Given the description of an element on the screen output the (x, y) to click on. 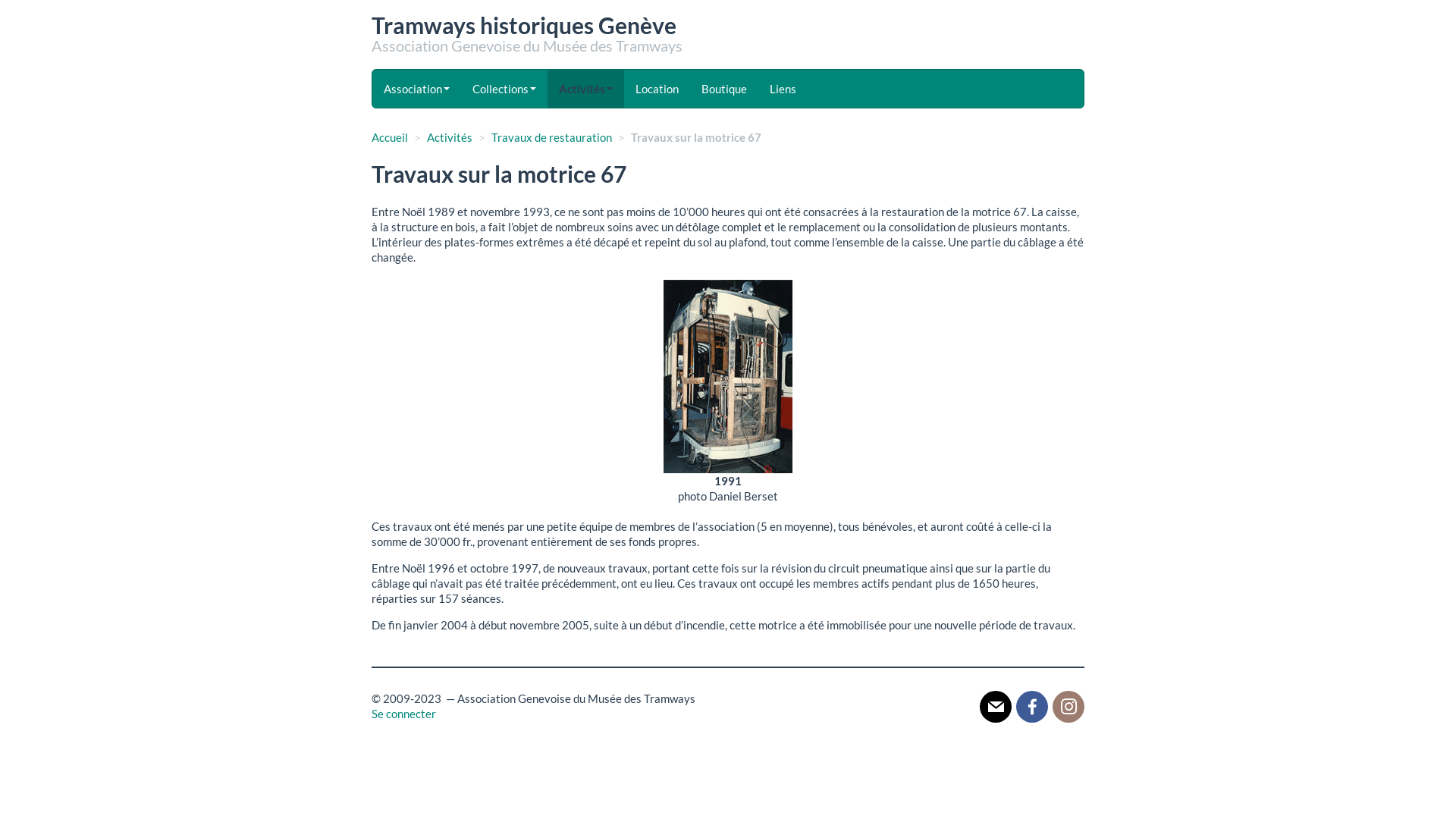
Instagram Element type: text (1068, 705)
Collections Element type: text (504, 88)
Travaux de restauration Element type: text (551, 137)
Se connecter Element type: text (403, 713)
Association Element type: text (416, 88)
Liens Element type: text (782, 88)
Facebook Element type: text (1032, 705)
Location Element type: text (657, 88)
Boutique Element type: text (724, 88)
Accueil Element type: text (389, 137)
E-mail Element type: text (995, 705)
